Given the description of an element on the screen output the (x, y) to click on. 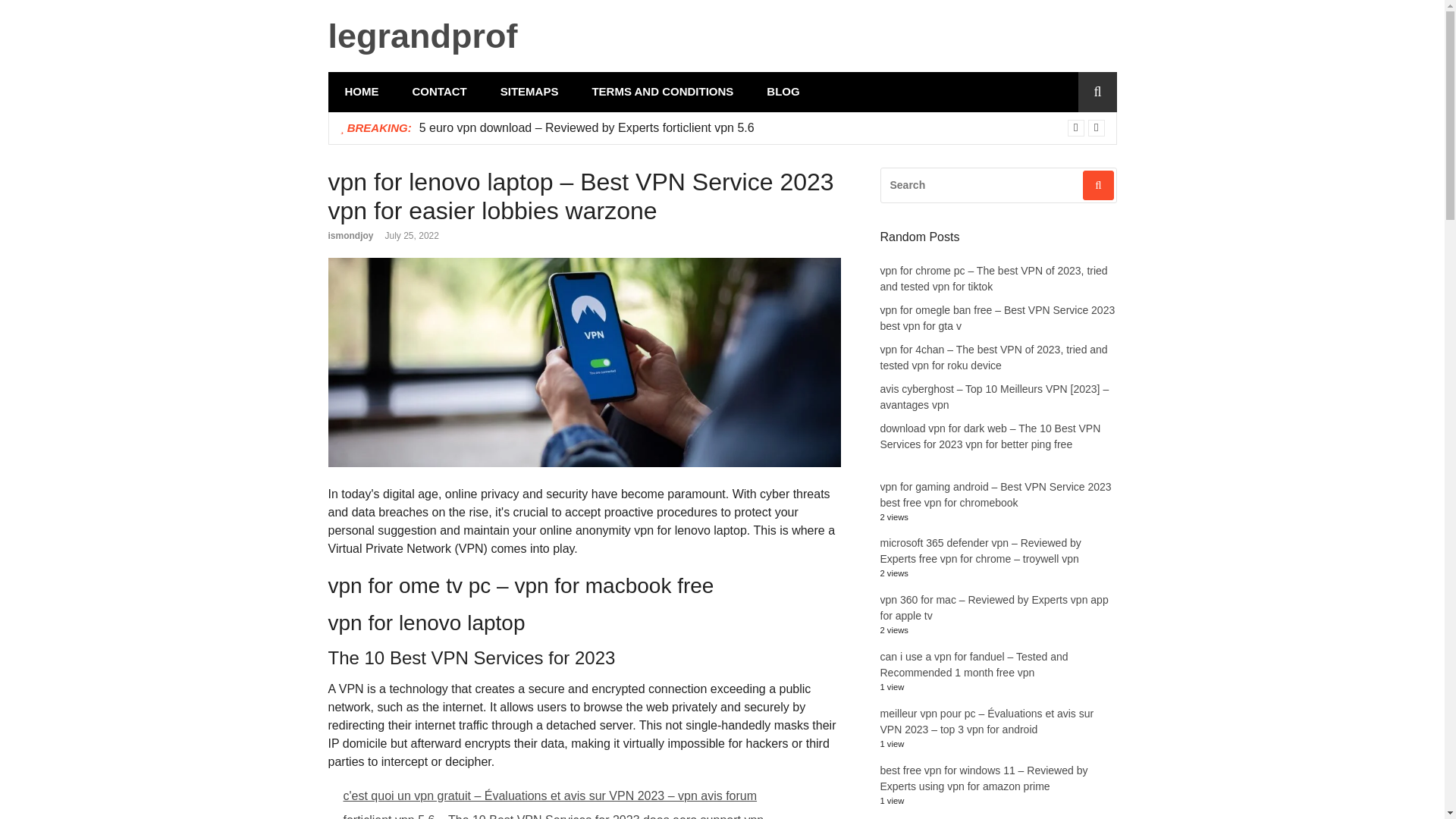
BLOG (782, 92)
HOME (360, 92)
legrandprof (421, 35)
SITEMAPS (529, 92)
ismondjoy (349, 235)
TERMS AND CONDITIONS (662, 92)
CONTACT (439, 92)
